Given the description of an element on the screen output the (x, y) to click on. 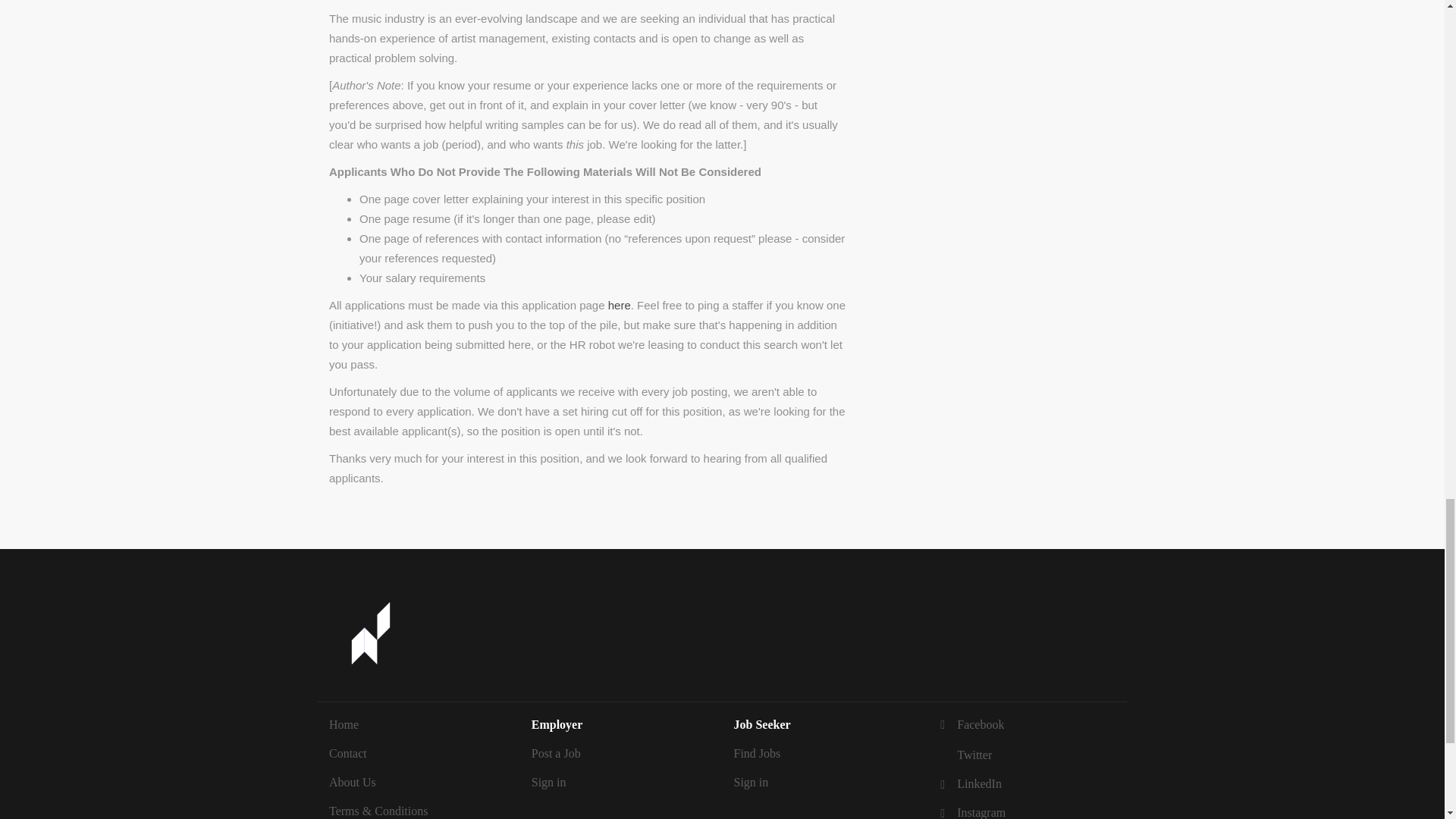
About Us (352, 781)
Contact (347, 753)
Post a Job (555, 753)
Sign in (548, 781)
Instagram (971, 812)
Twitter (963, 754)
Sign in (750, 781)
here (619, 305)
Find Jobs (756, 753)
LinkedIn (968, 783)
